Given the description of an element on the screen output the (x, y) to click on. 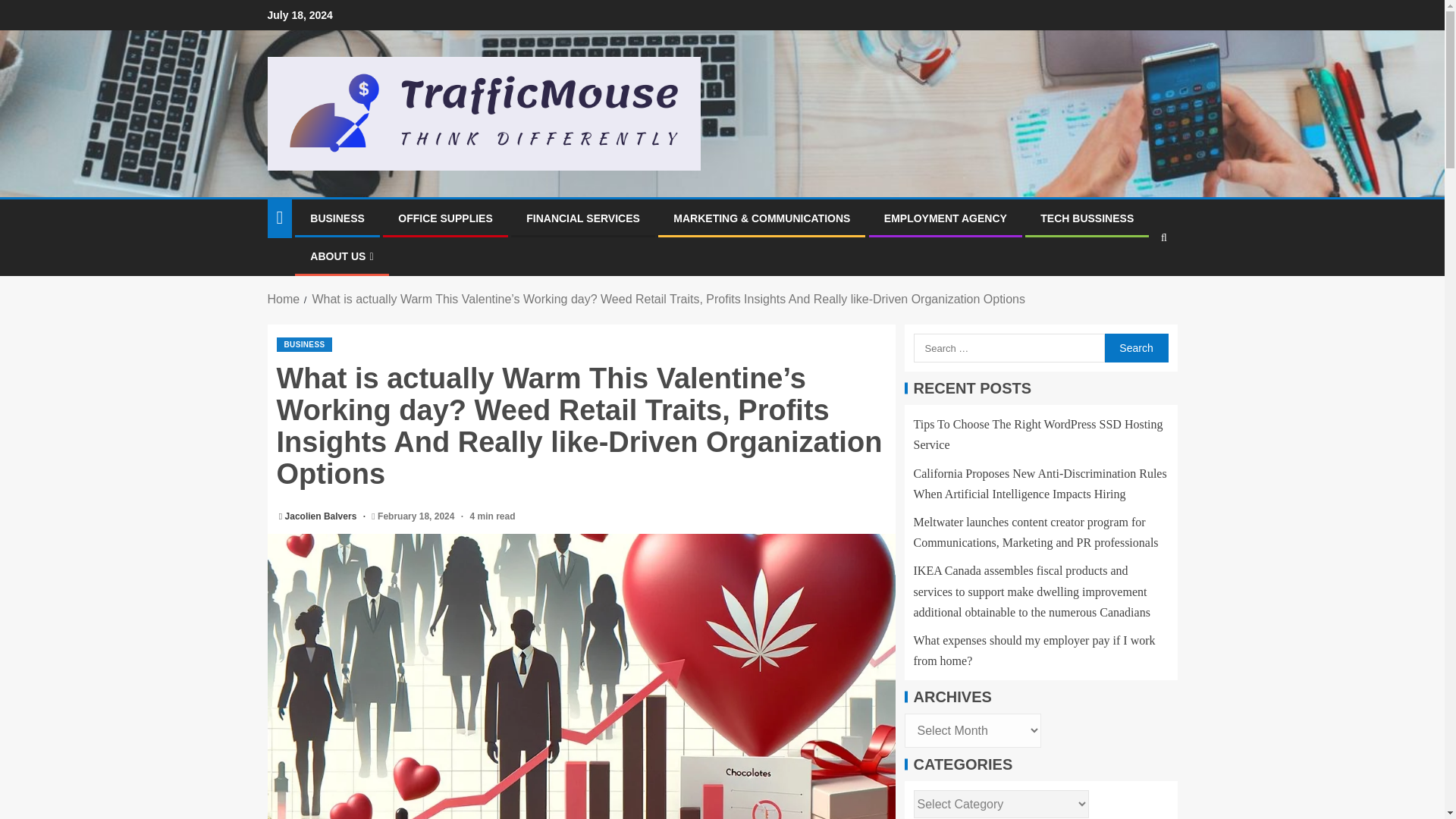
Search (1133, 284)
Jacolien Balvers (322, 516)
EMPLOYMENT AGENCY (945, 218)
Search (1135, 347)
Search (1135, 347)
BUSINESS (303, 344)
Home (282, 298)
OFFICE SUPPLIES (444, 218)
BUSINESS (337, 218)
TECH BUSSINESS (1087, 218)
FINANCIAL SERVICES (582, 218)
ABOUT US (341, 256)
